Given the description of an element on the screen output the (x, y) to click on. 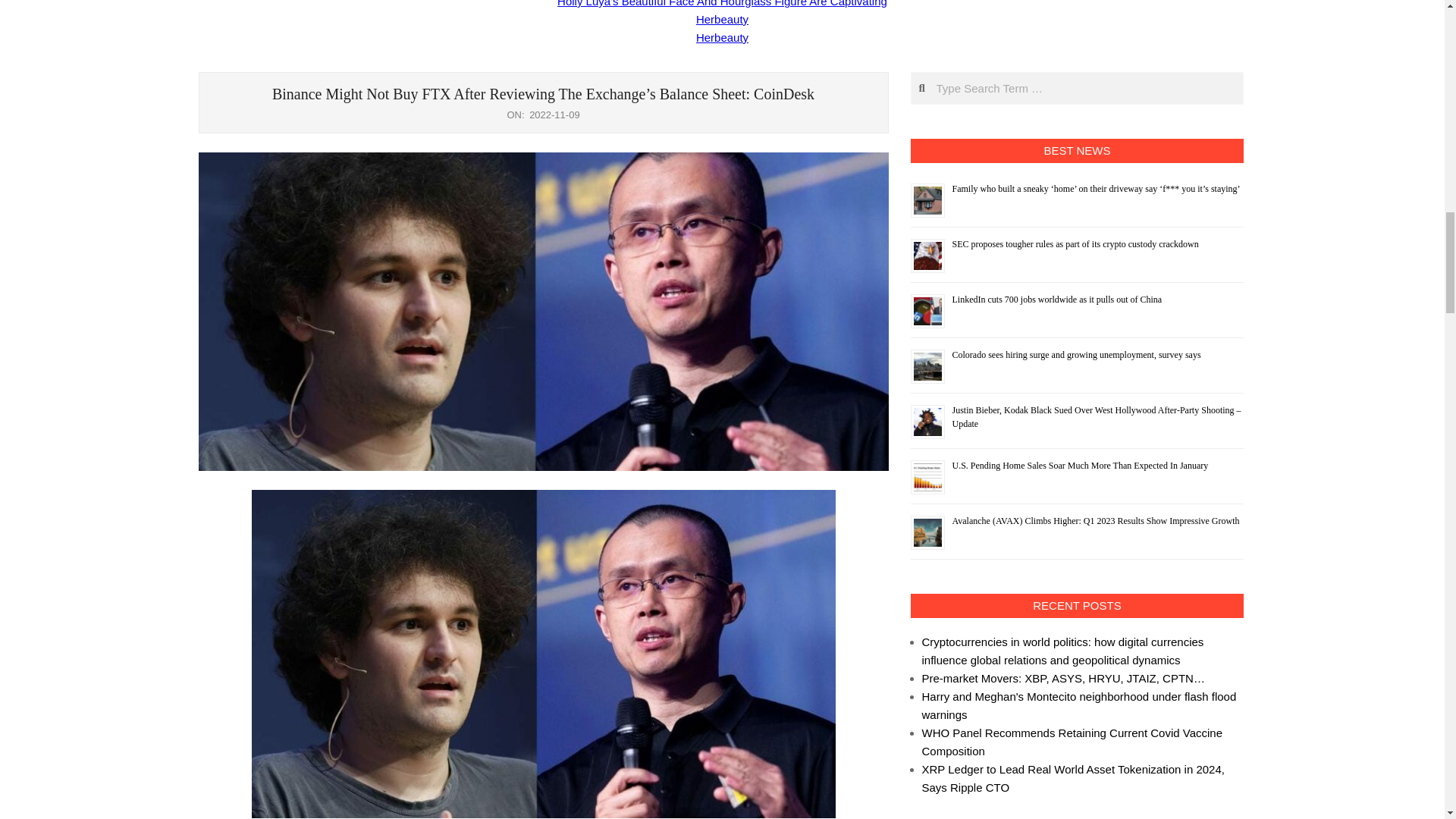
LinkedIn cuts 700 jobs worldwide as it pulls out of China (1056, 299)
Wednesday, November 9, 2022, 5:38 pm (554, 114)
